Given the description of an element on the screen output the (x, y) to click on. 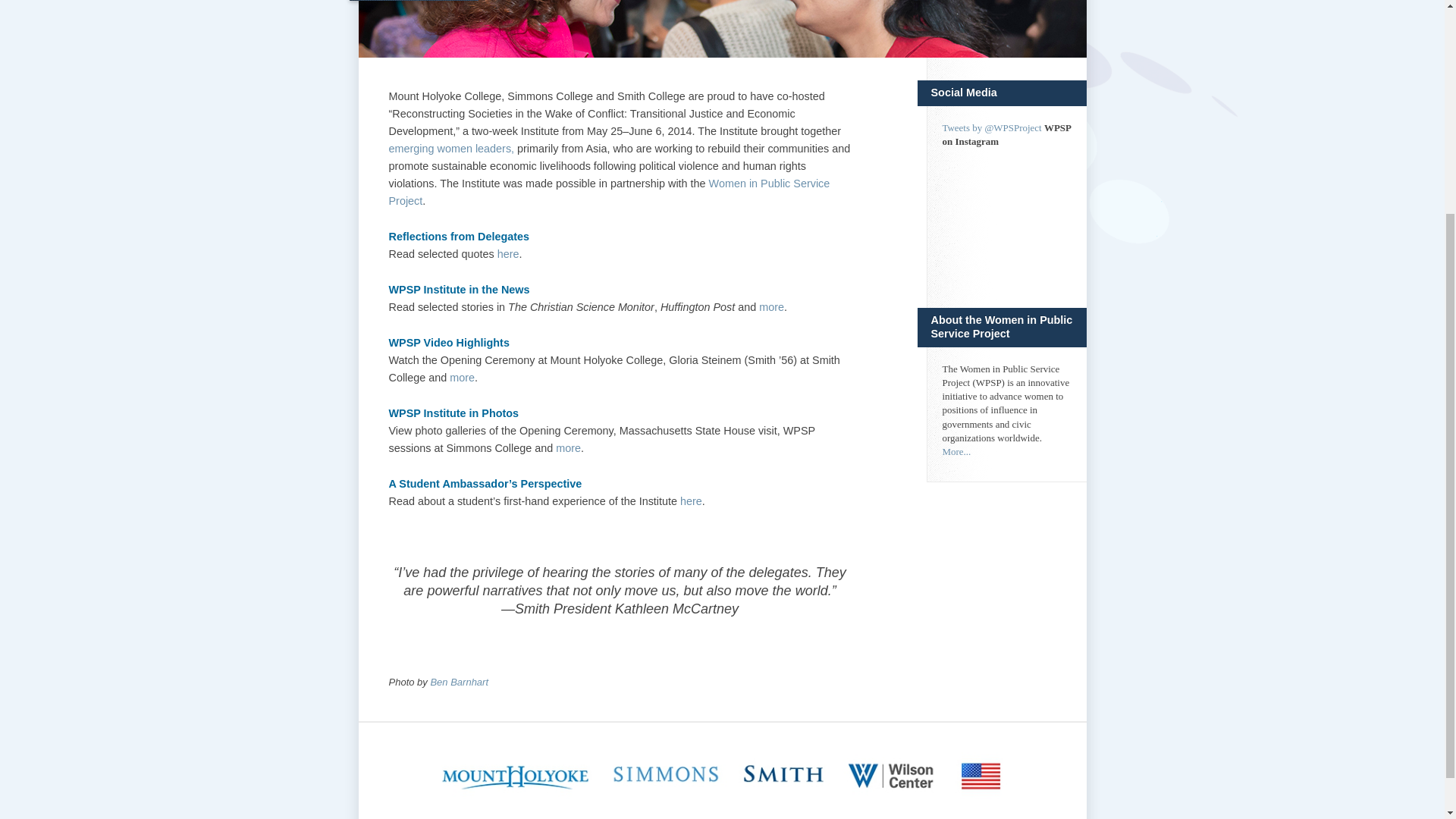
Instagram (1006, 214)
more (461, 377)
Ben Barnhart (458, 681)
here (690, 500)
Women in Public Service Project (608, 192)
more (771, 306)
here (508, 254)
more (568, 448)
emerging women leaders, (450, 148)
More... (956, 451)
